Given the description of an element on the screen output the (x, y) to click on. 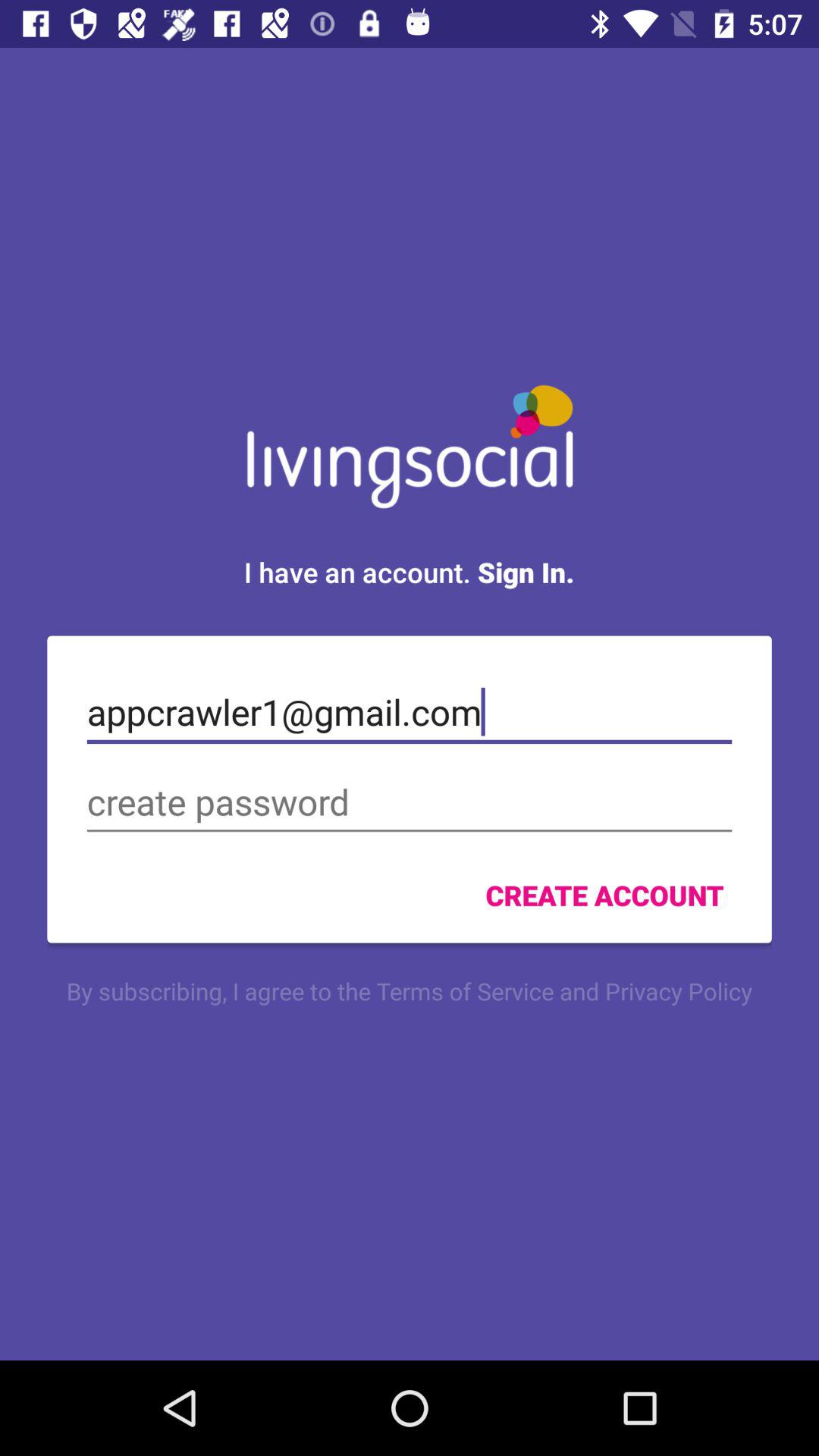
scroll to the i have an item (409, 571)
